Given the description of an element on the screen output the (x, y) to click on. 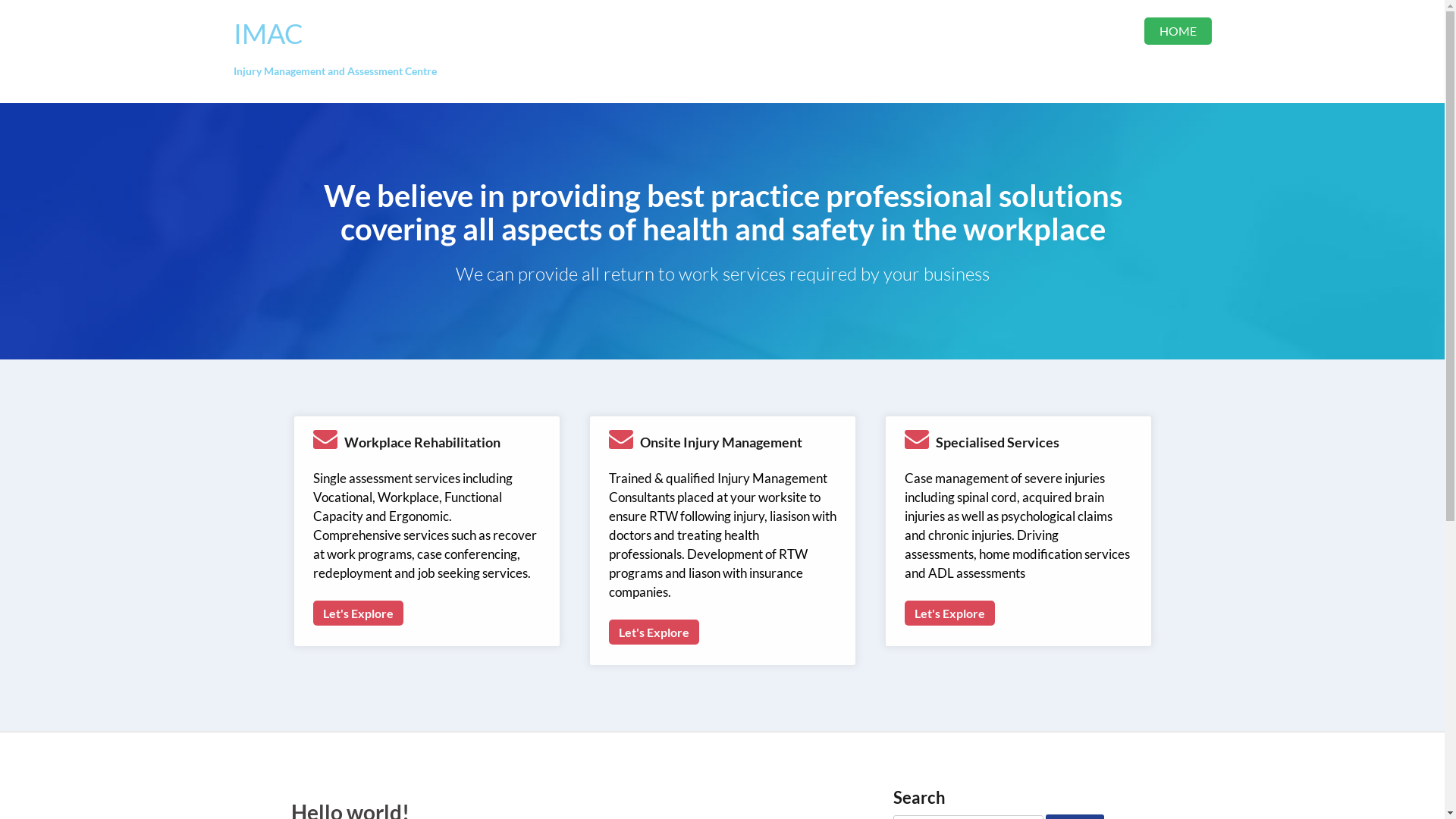
HOME Element type: text (1176, 30)
Let's Explore Element type: text (357, 612)
Let's Explore Element type: text (948, 612)
IMAC Element type: text (268, 33)
Let's Explore Element type: text (653, 631)
